Given the description of an element on the screen output the (x, y) to click on. 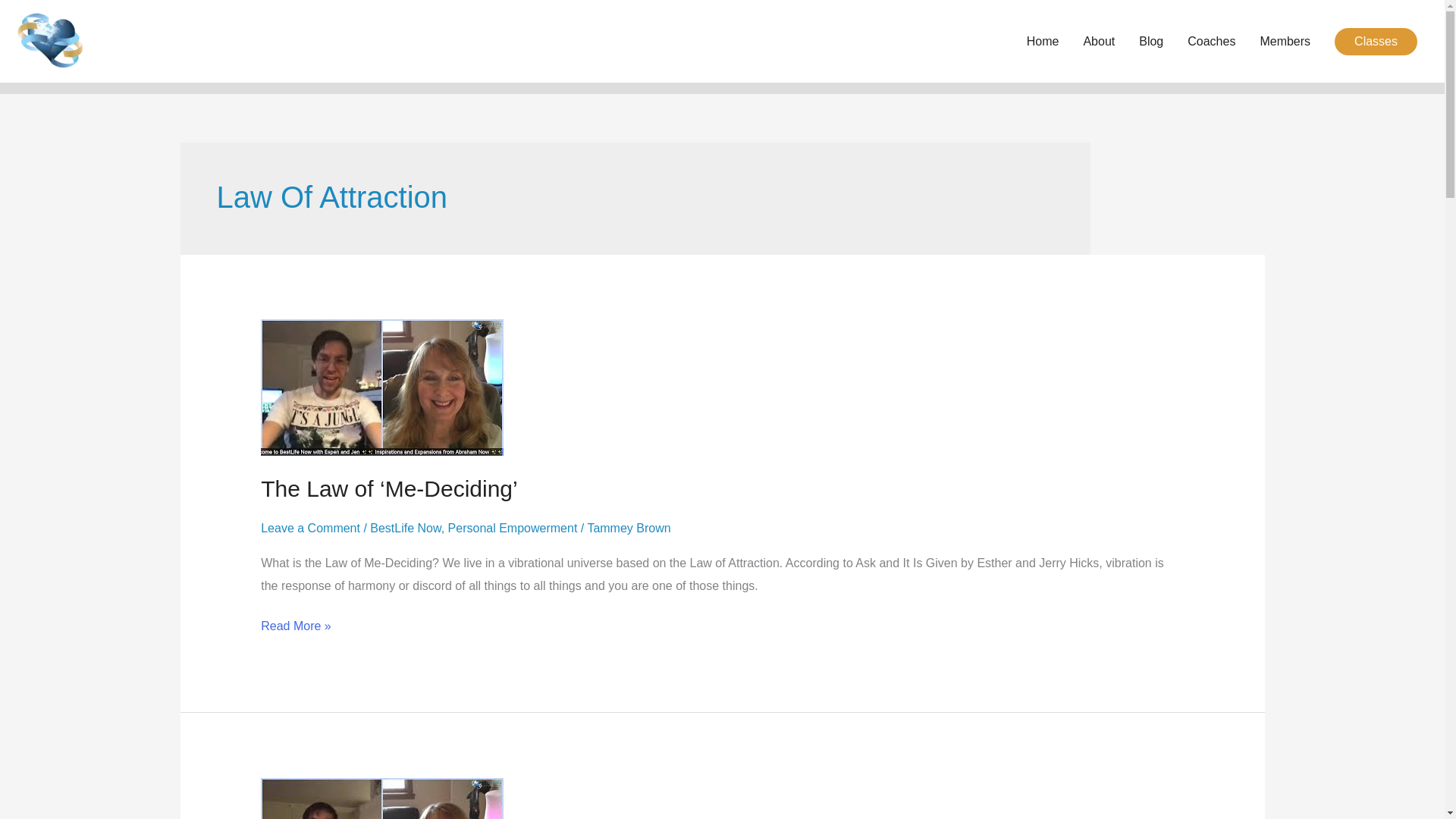
Blog (1150, 40)
Classes (1375, 40)
BestLife Now (405, 527)
View all posts by Tammey Brown (627, 527)
Home (1042, 40)
Leave a Comment (309, 527)
About (1098, 40)
Coaches (1210, 40)
Tammey Brown (627, 527)
Personal Empowerment (513, 527)
Members (1284, 40)
